Given the description of an element on the screen output the (x, y) to click on. 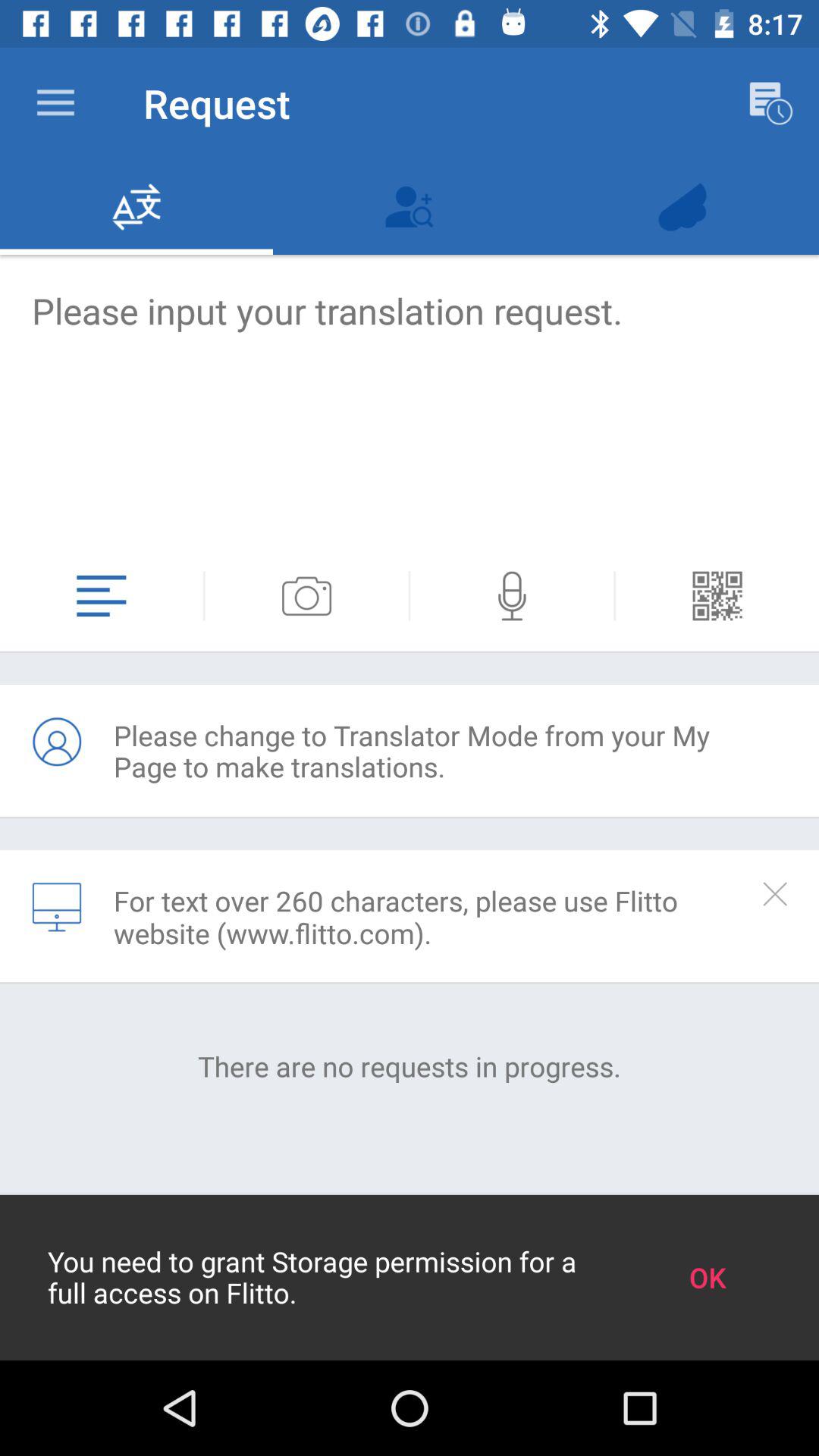
flip until the ok icon (707, 1277)
